Given the description of an element on the screen output the (x, y) to click on. 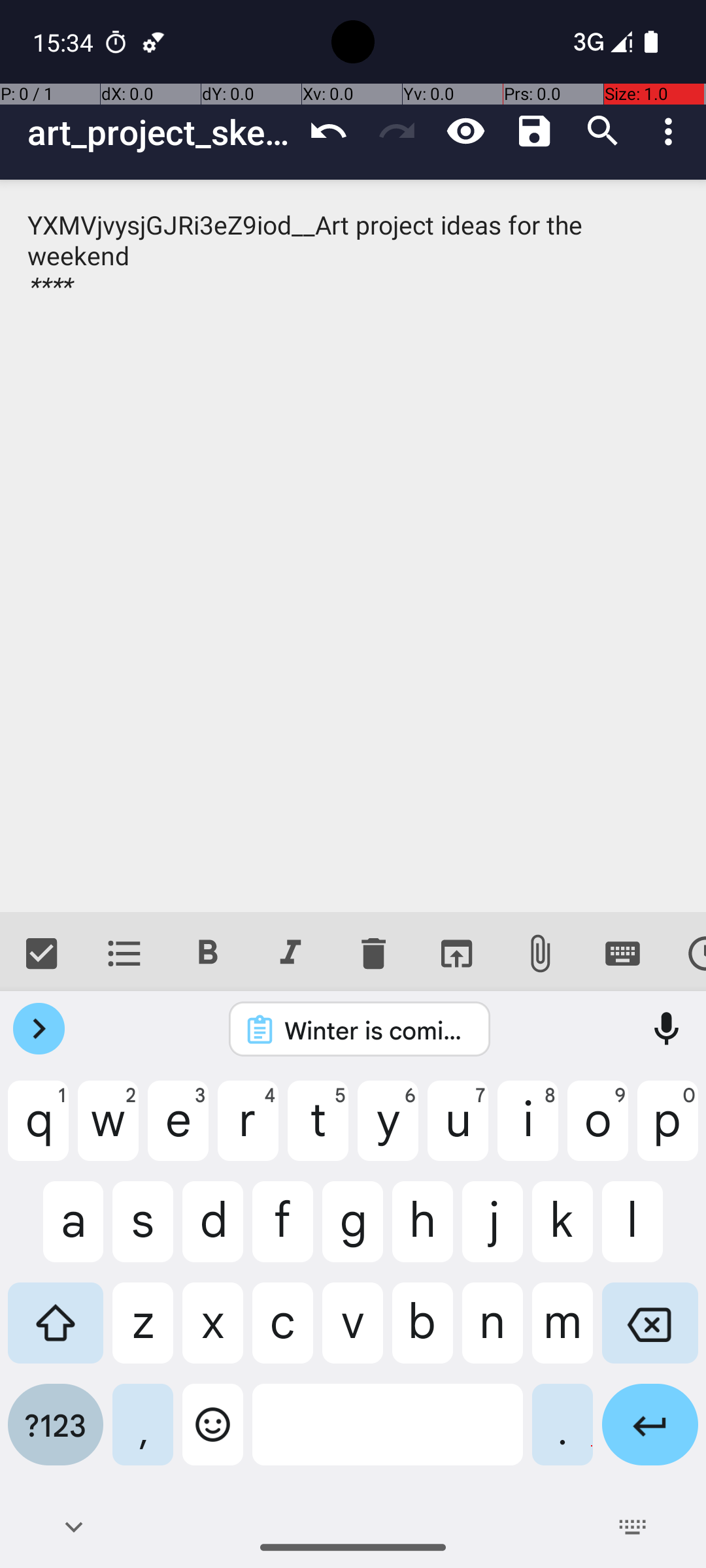
art_project_sketches_backup Element type: android.widget.TextView (160, 131)
YXMVjvysjGJRi3eZ9iod__Art project ideas for the weekend
**** Element type: android.widget.EditText (353, 545)
Winter is coming. Element type: android.widget.TextView (376, 1029)
